Given the description of an element on the screen output the (x, y) to click on. 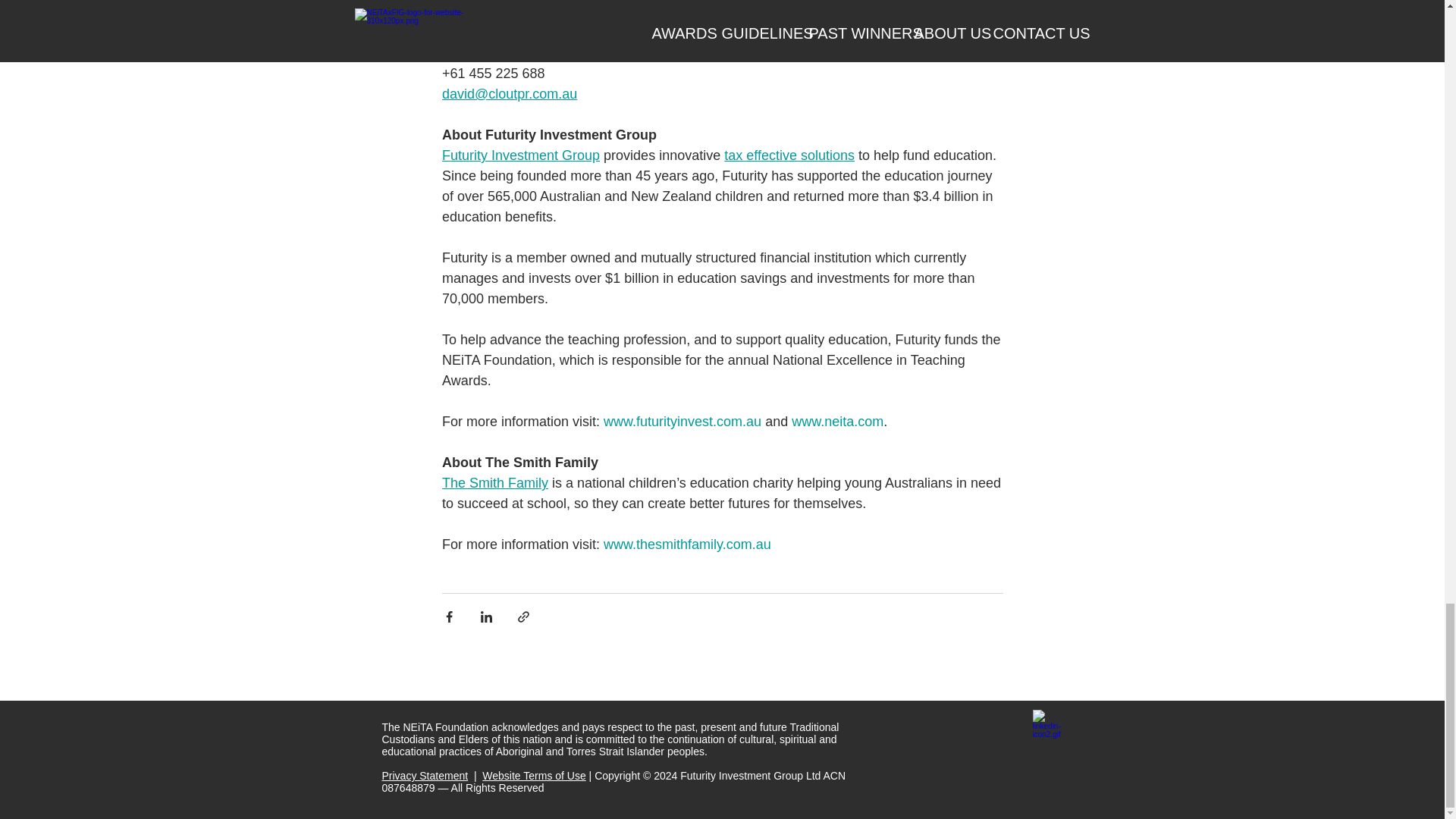
tax effective solutions (788, 155)
www.thesmithfamily.com.au (687, 544)
The Smith Family (494, 482)
www.futurityinvest.com.au (682, 421)
www.neita.com (837, 421)
Privacy Statement (424, 775)
Website Terms of Use (533, 775)
Futurity Investment Group (519, 155)
